Given the description of an element on the screen output the (x, y) to click on. 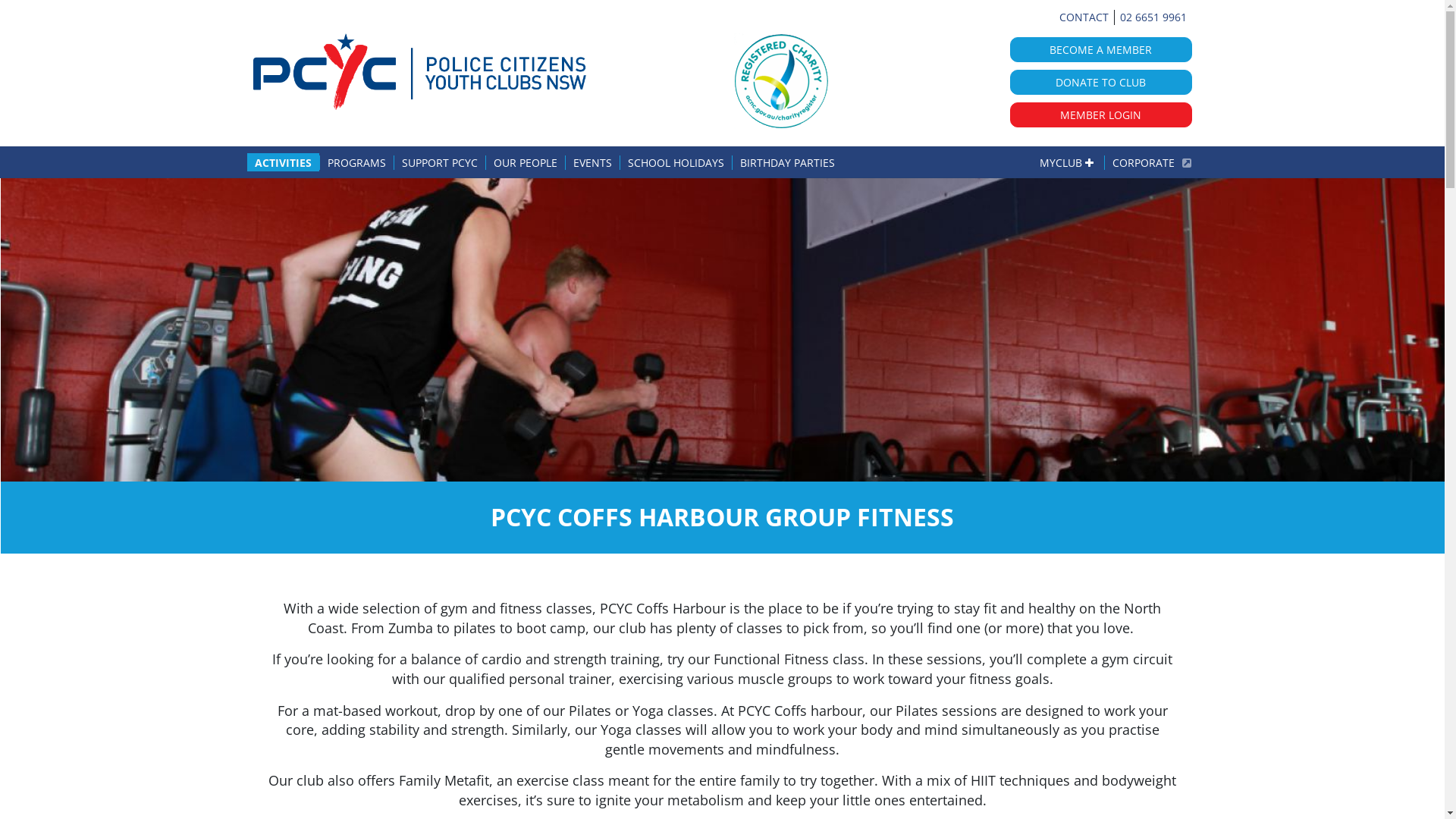
PROGRAMS Element type: text (356, 162)
PCYC Coffs Harbour Home Page Element type: hover (419, 71)
CONTACT Element type: text (1082, 17)
PCYC is a Registered Charity Element type: hover (781, 80)
ACTIVITIES Element type: text (286, 162)
BIRTHDAY PARTIES Element type: text (786, 162)
MEMBER LOGIN Element type: text (1101, 114)
02 6651 9961 Element type: text (1152, 17)
DONATE TO CLUB Element type: text (1101, 81)
MYCLUB Element type: text (1070, 162)
EVENTS Element type: text (591, 162)
OUR PEOPLE Element type: text (524, 162)
CORPORATE Element type: text (1143, 162)
BECOME A MEMBER Element type: text (1101, 49)
SUPPORT PCYC Element type: text (439, 162)
SCHOOL HOLIDAYS Element type: text (675, 162)
